Given the description of an element on the screen output the (x, y) to click on. 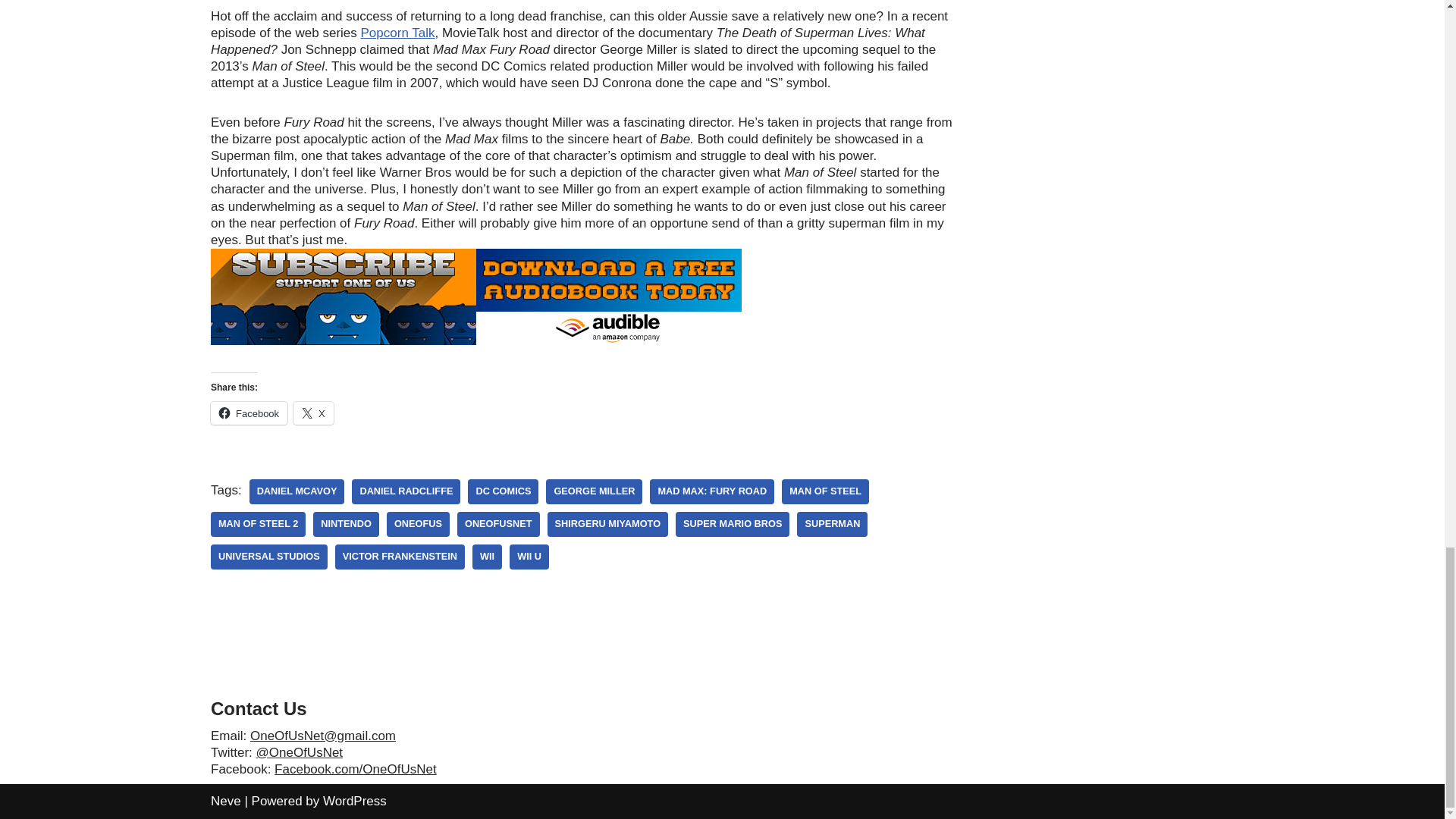
Daniel Radcliffe (406, 491)
man of steel (825, 491)
Click to share on Facebook (248, 413)
Nintendo (345, 524)
Click to share on X (313, 413)
george miller (594, 491)
DC Comics (502, 491)
Man of Steel 2 (258, 524)
Mad Max: Fury Road (711, 491)
Daniel McAvoy (296, 491)
